Given the description of an element on the screen output the (x, y) to click on. 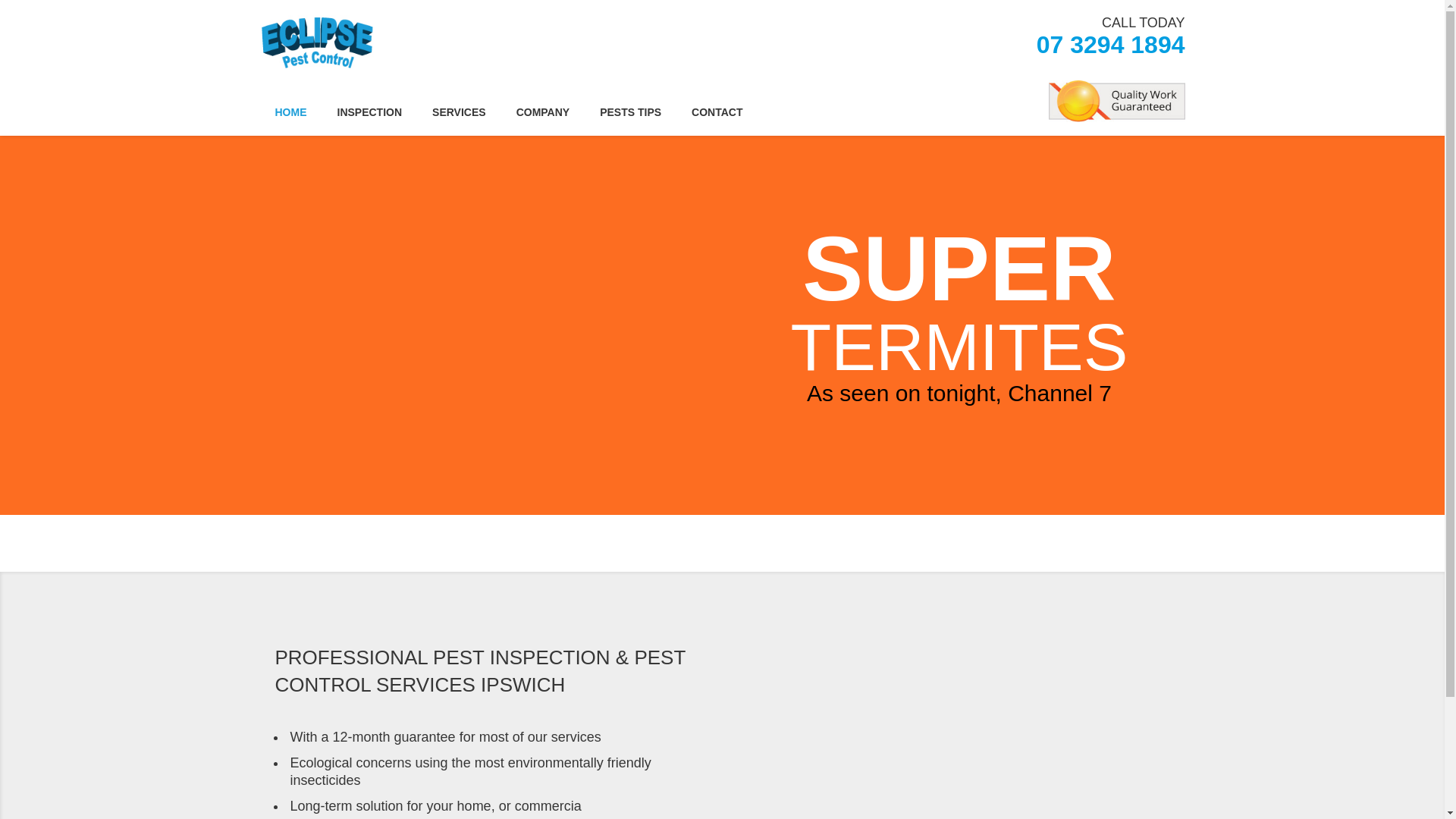
Eclipse Pest Control Ipswich Element type: hover (316, 42)
HOME Element type: text (290, 110)
CONTACT Element type: text (716, 110)
INSPECTION Element type: text (369, 110)
SERVICES Element type: text (459, 110)
PESTS TIPS Element type: text (630, 110)
COMPANY Element type: text (543, 110)
Eclipse guarantee Quality work Element type: hover (1116, 101)
GET A FREE QUOTE Element type: text (924, 17)
